Given the description of an element on the screen output the (x, y) to click on. 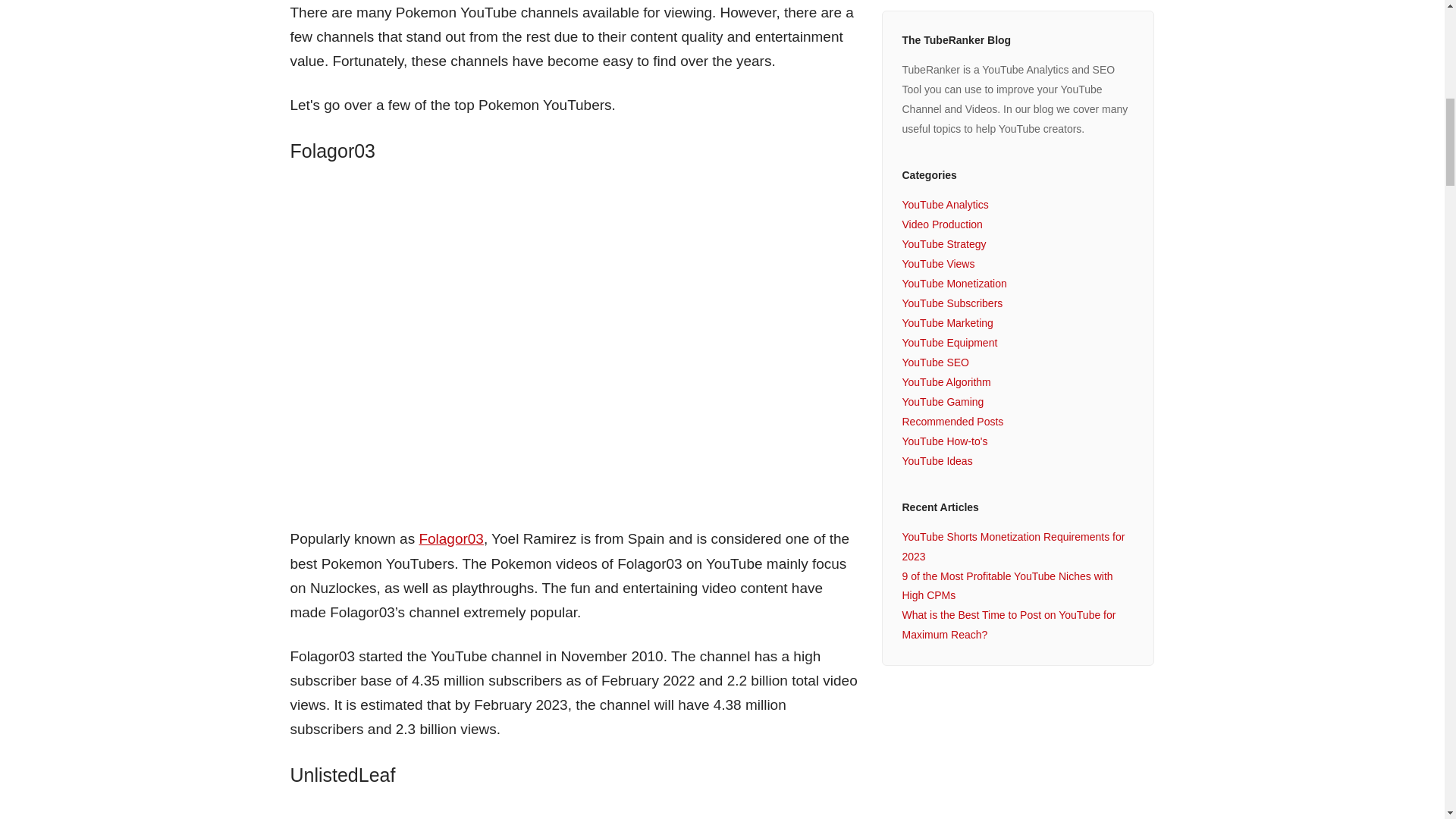
YouTube Equipment (949, 342)
9 of the Most Profitable YouTube Niches with High CPMs (1006, 585)
YouTube SEO (934, 362)
YouTube Shorts Monetization Requirements for 2023 (1012, 546)
Video Production (941, 224)
YouTube Monetization (953, 283)
YouTube Marketing (946, 322)
Recommended Posts (952, 421)
YouTube How-to's (944, 440)
YouTube Views (937, 263)
